Given the description of an element on the screen output the (x, y) to click on. 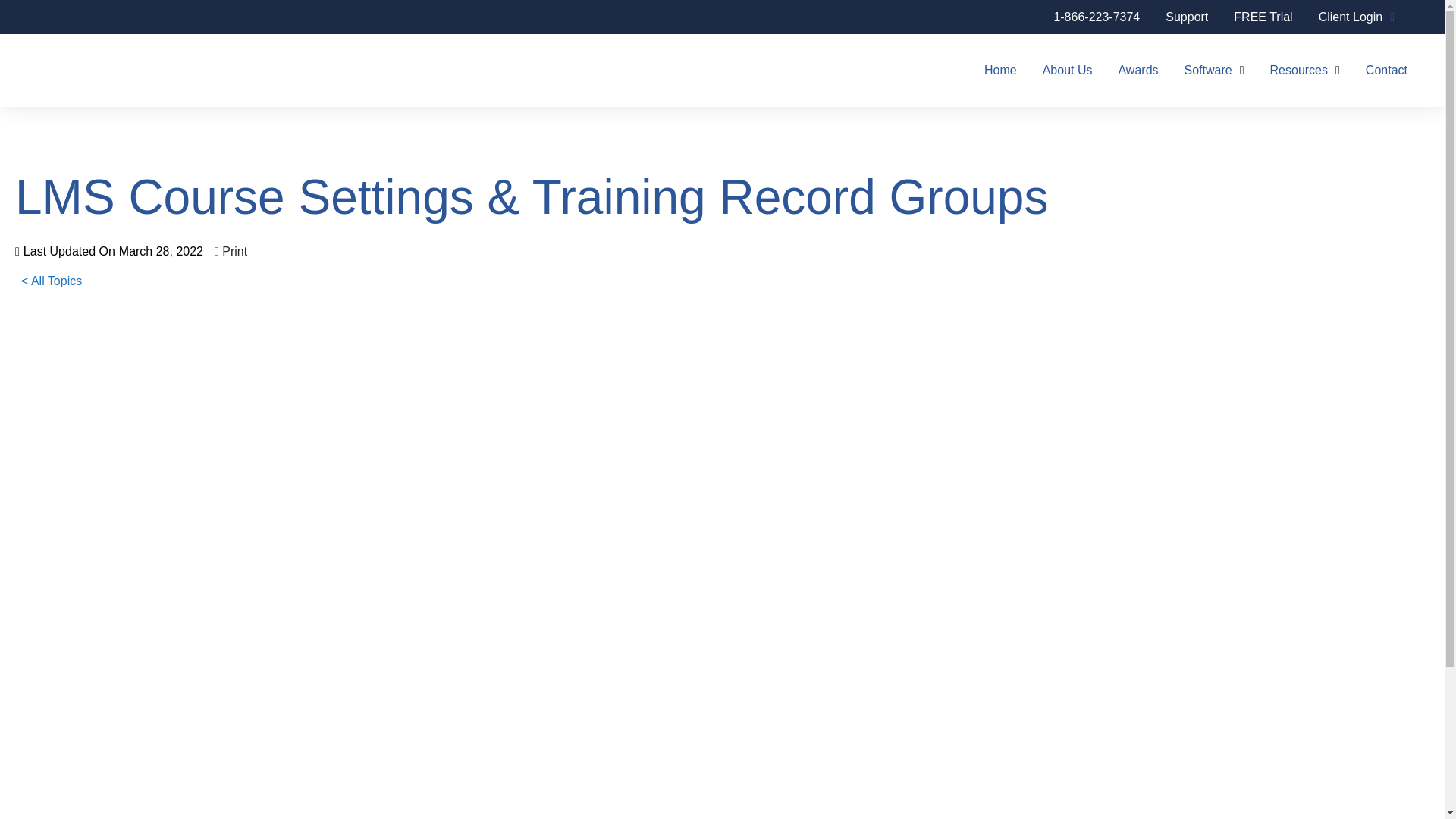
FREE Trial (1262, 18)
Contact (1386, 70)
About Us (1067, 70)
Home (1000, 70)
Awards (1137, 70)
Support (1187, 18)
Client Login (1356, 18)
Software (1214, 70)
Resources (1304, 70)
1-866-223-7374 (1097, 18)
